Given the description of an element on the screen output the (x, y) to click on. 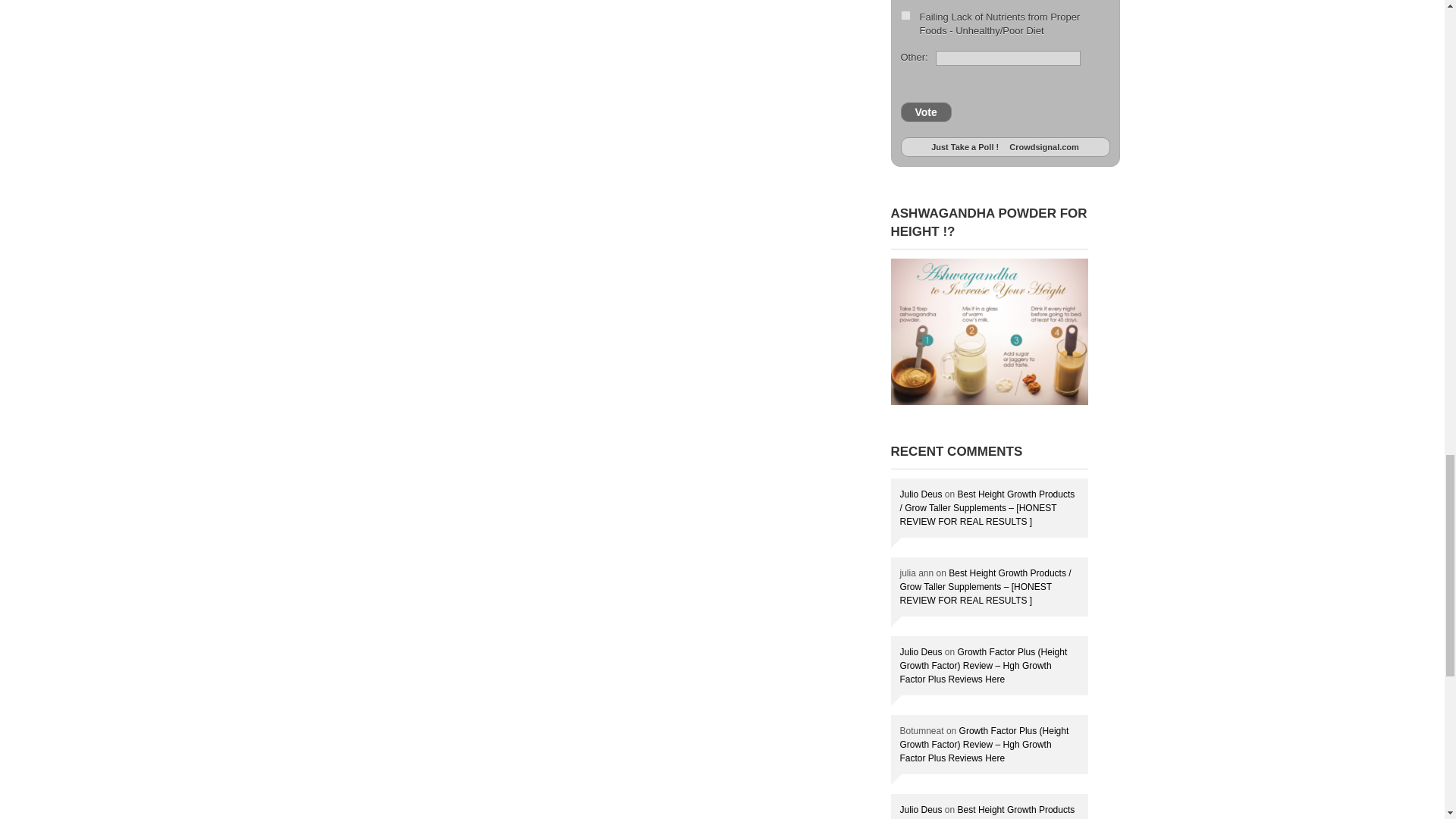
Julio Deus (920, 493)
Vote (926, 111)
Julio Deus (920, 809)
Crowdsignal.com (1044, 146)
37688123 (906, 15)
Just Take a Poll ! (965, 146)
Julio Deus (920, 652)
